Given the description of an element on the screen output the (x, y) to click on. 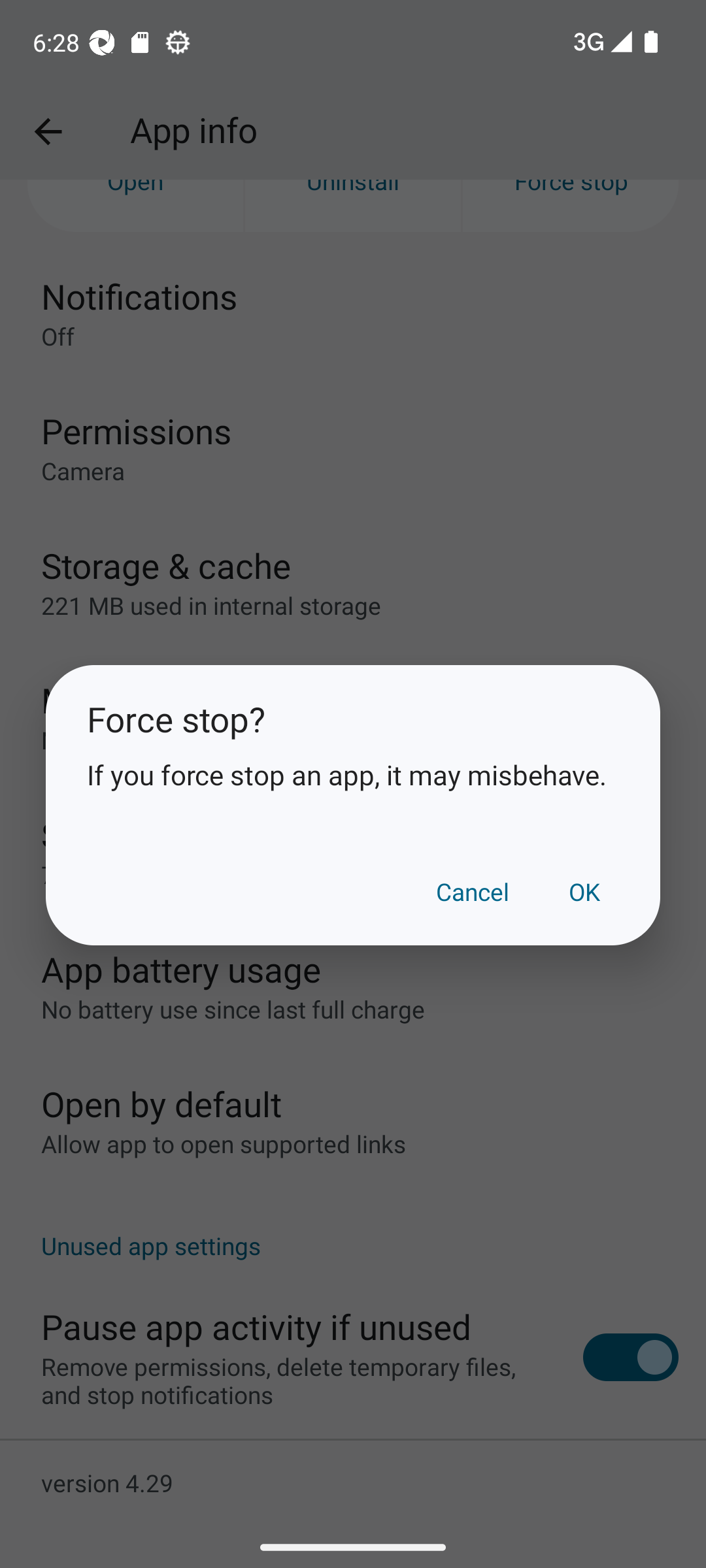
Cancel (472, 891)
OK (584, 891)
